Given the description of an element on the screen output the (x, y) to click on. 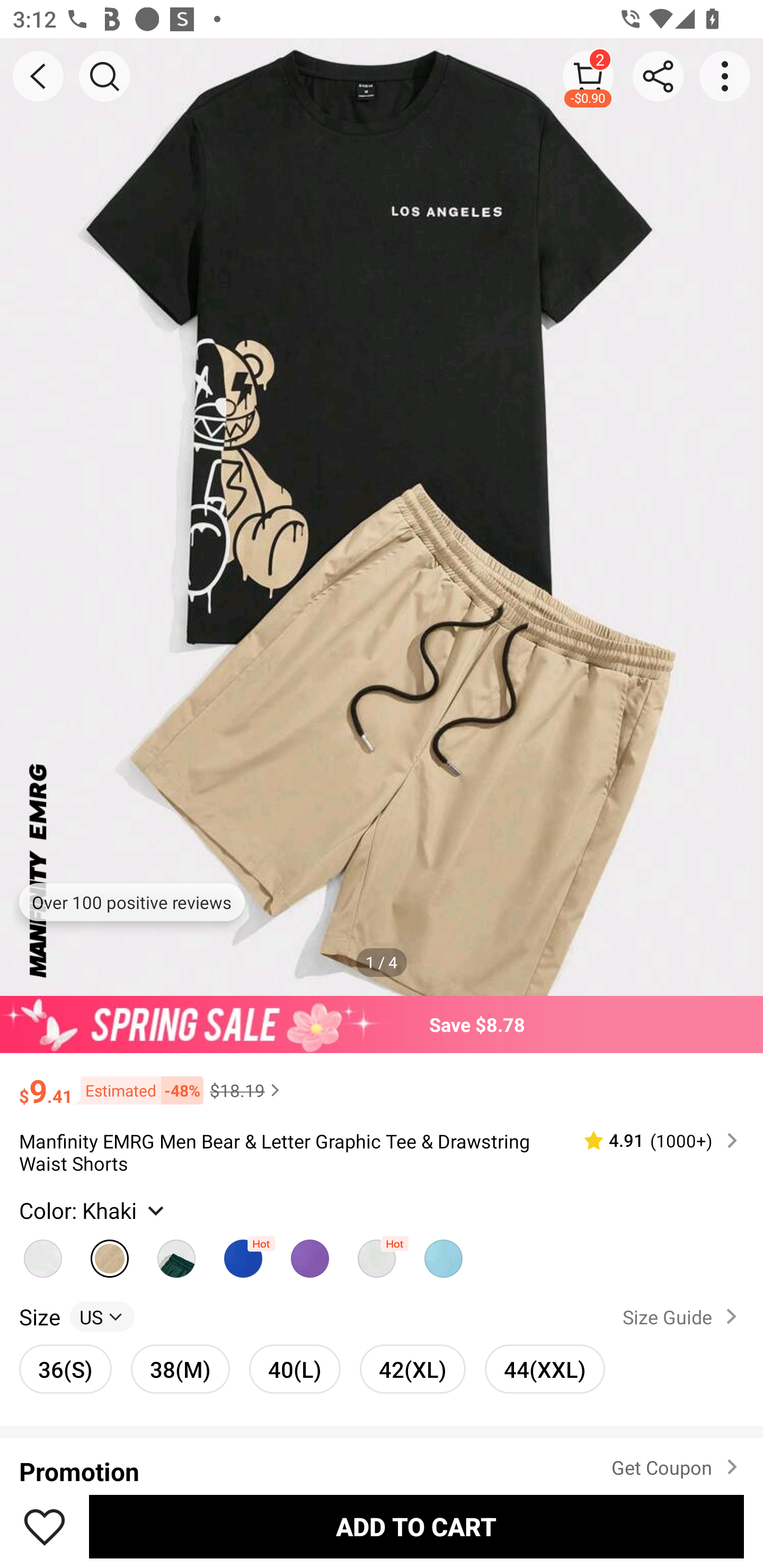
BACK (38, 75)
2 -$0.90 (588, 75)
1 / 4 (381, 962)
Save $8.78 (381, 1024)
$9.41 Estimated -48% $18.19 (381, 1082)
Estimated -48% (137, 1089)
$18.19 (246, 1090)
4.91 (1000‎+) (653, 1139)
Color: Khaki (93, 1209)
Khaki (42, 1253)
Khaki (109, 1253)
Green (176, 1253)
Royal Blue (242, 1253)
Violet Purple (309, 1253)
Baby Blue (376, 1253)
Mint Blue (443, 1253)
Size (39, 1316)
US (102, 1316)
Size Guide (682, 1316)
36(S) 36(S)unselected option (65, 1368)
38(M) 38(M)unselected option (180, 1368)
40(L) 40(L)unselected option (294, 1368)
42(XL) 42(XL)unselected option (412, 1368)
44(XXL) 44(XXL)unselected option (544, 1368)
Promotion Get Coupon (381, 1460)
ADD TO CART (416, 1526)
Save (44, 1526)
